Given the description of an element on the screen output the (x, y) to click on. 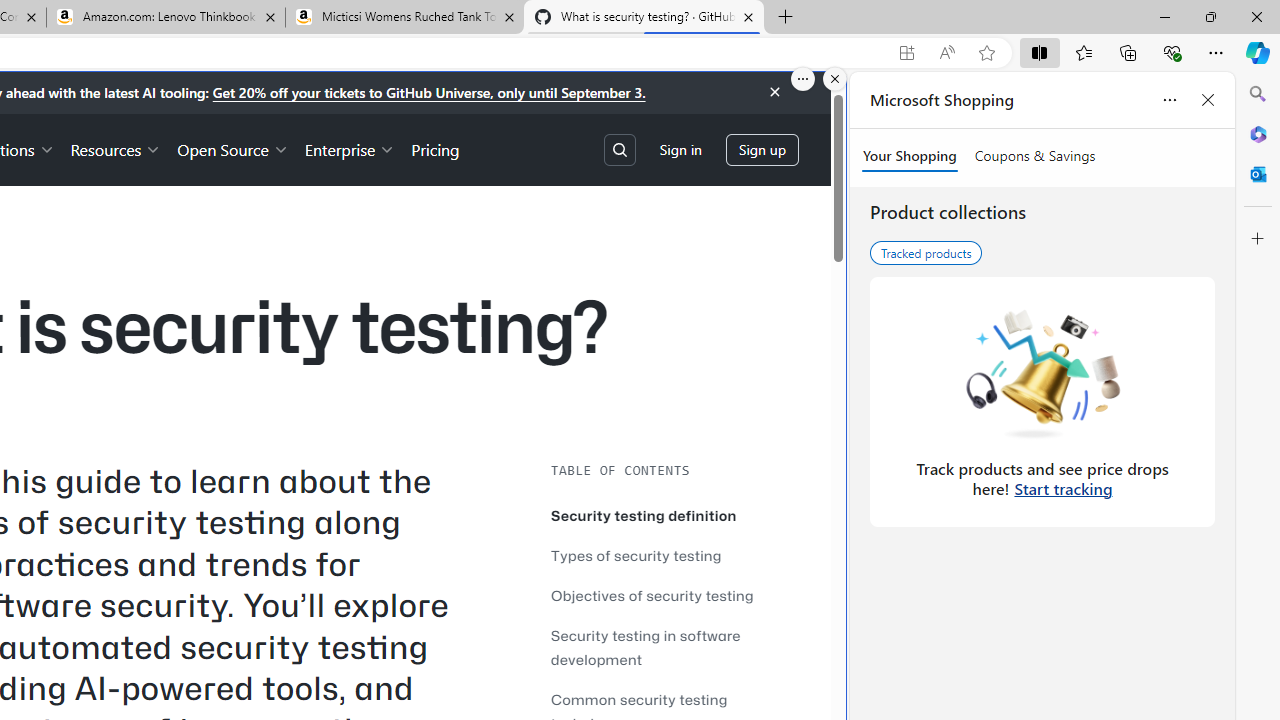
Objectives of security testing (651, 595)
Pricing (435, 148)
Sign up (761, 149)
Types of security testing (670, 555)
Security testing in software development (670, 646)
Enterprise (349, 148)
Close split screen. (835, 79)
Enterprise (349, 148)
